Given the description of an element on the screen output the (x, y) to click on. 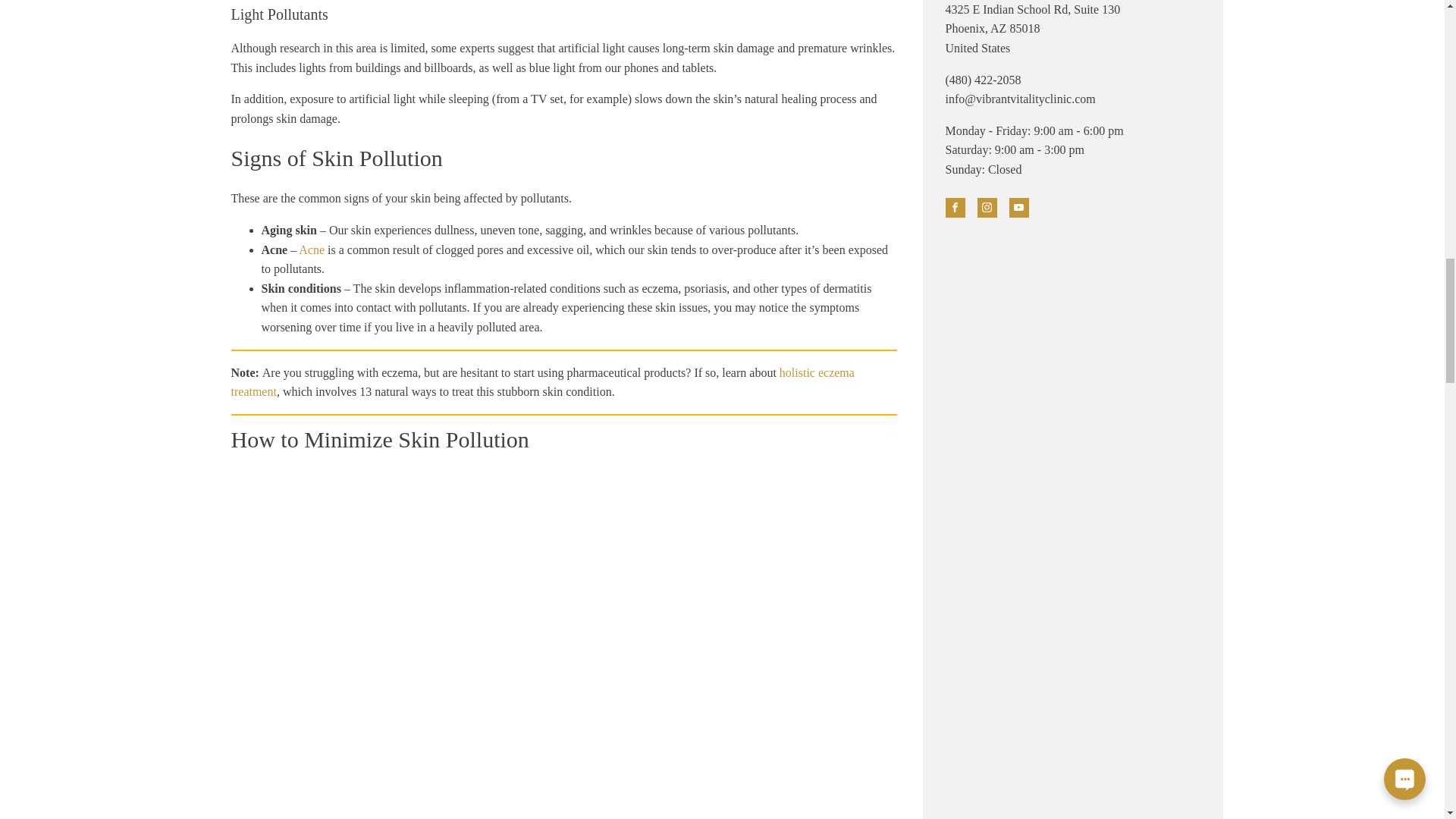
holistic eczema treatment (541, 382)
Acne (311, 249)
